Given the description of an element on the screen output the (x, y) to click on. 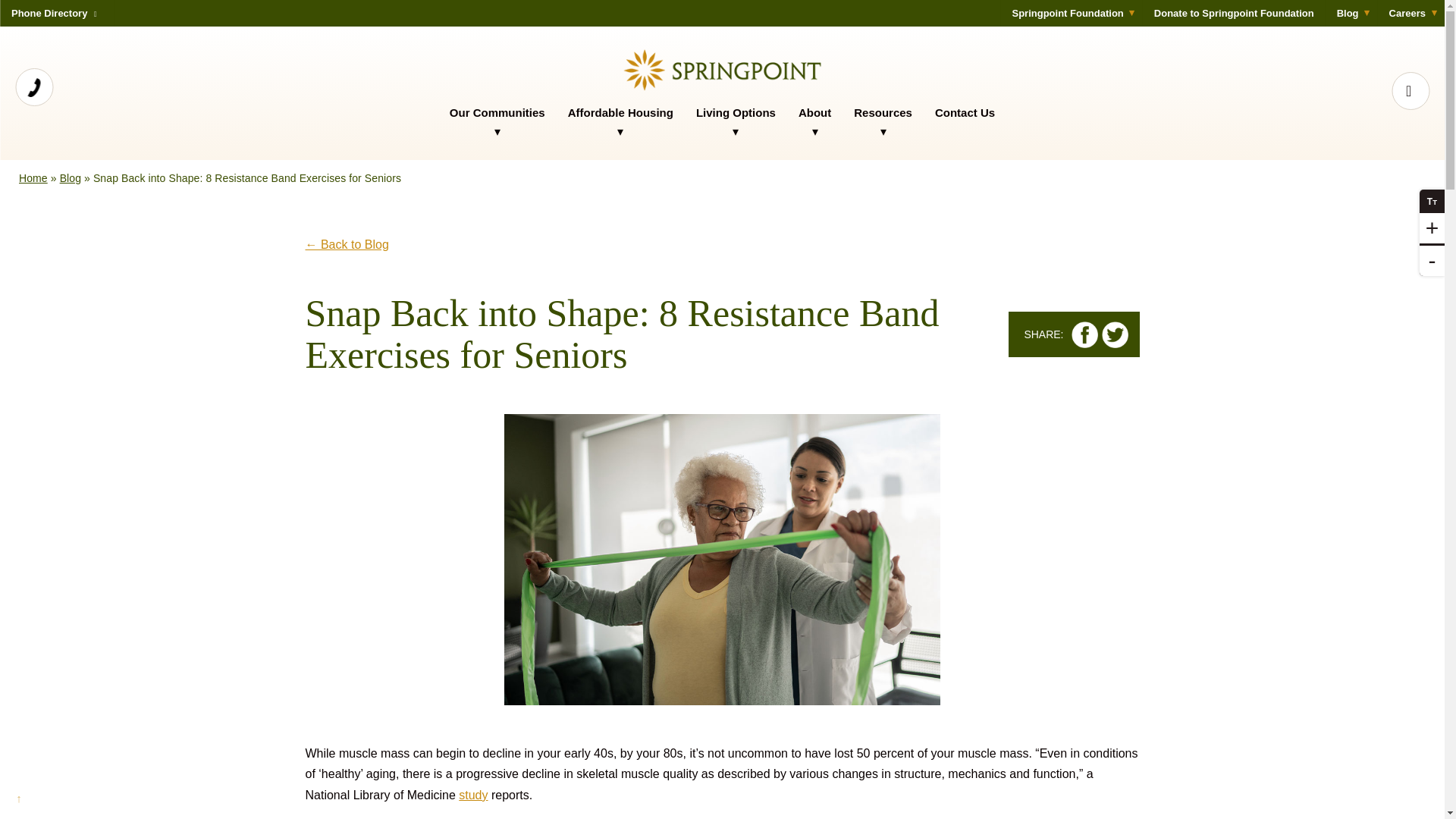
About (815, 120)
Living Options (735, 120)
Our Communities (497, 120)
Back to Blog (346, 263)
Share on Facebook (1083, 334)
Share on Twitter (1113, 334)
Springpoint Senior Living (722, 70)
Affordable Housing (620, 120)
